Given the description of an element on the screen output the (x, y) to click on. 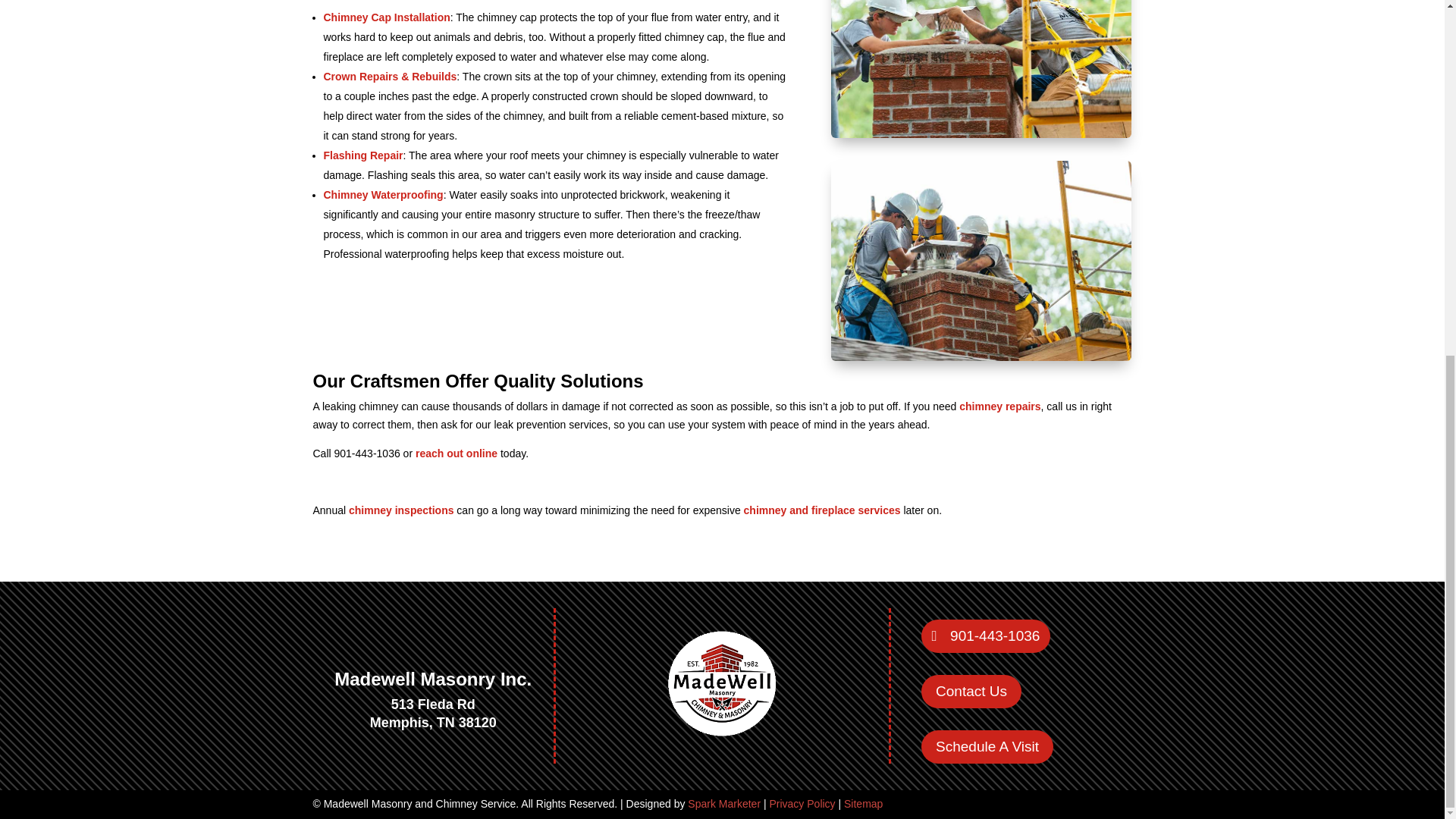
The systems and people to help local service businesses win. (723, 803)
Original Photo-Madewell Logo.-Madewell Masonry- Memphis TN (721, 683)
